Given the description of an element on the screen output the (x, y) to click on. 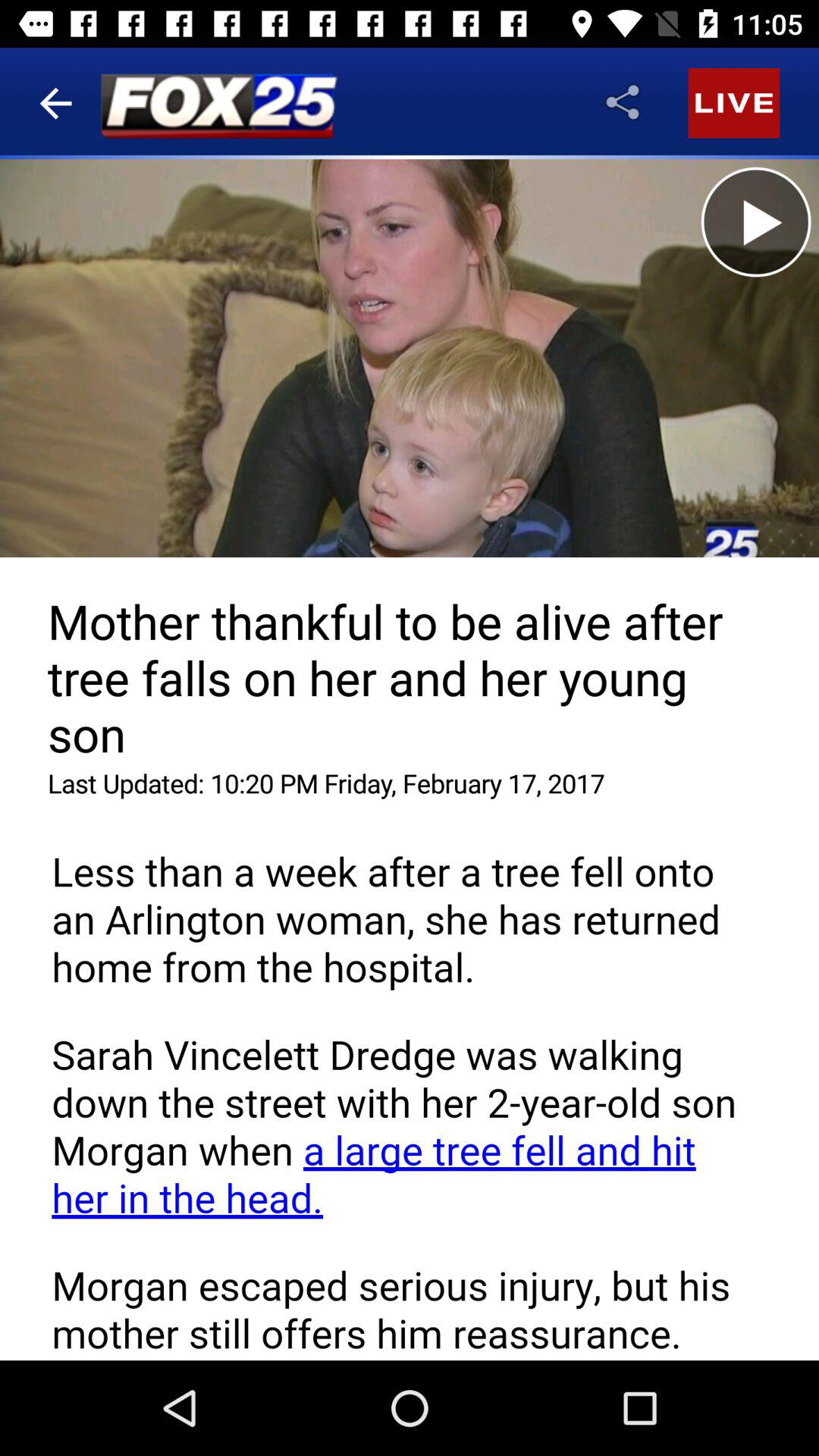
click on play button below text live (756, 221)
